Given the description of an element on the screen output the (x, y) to click on. 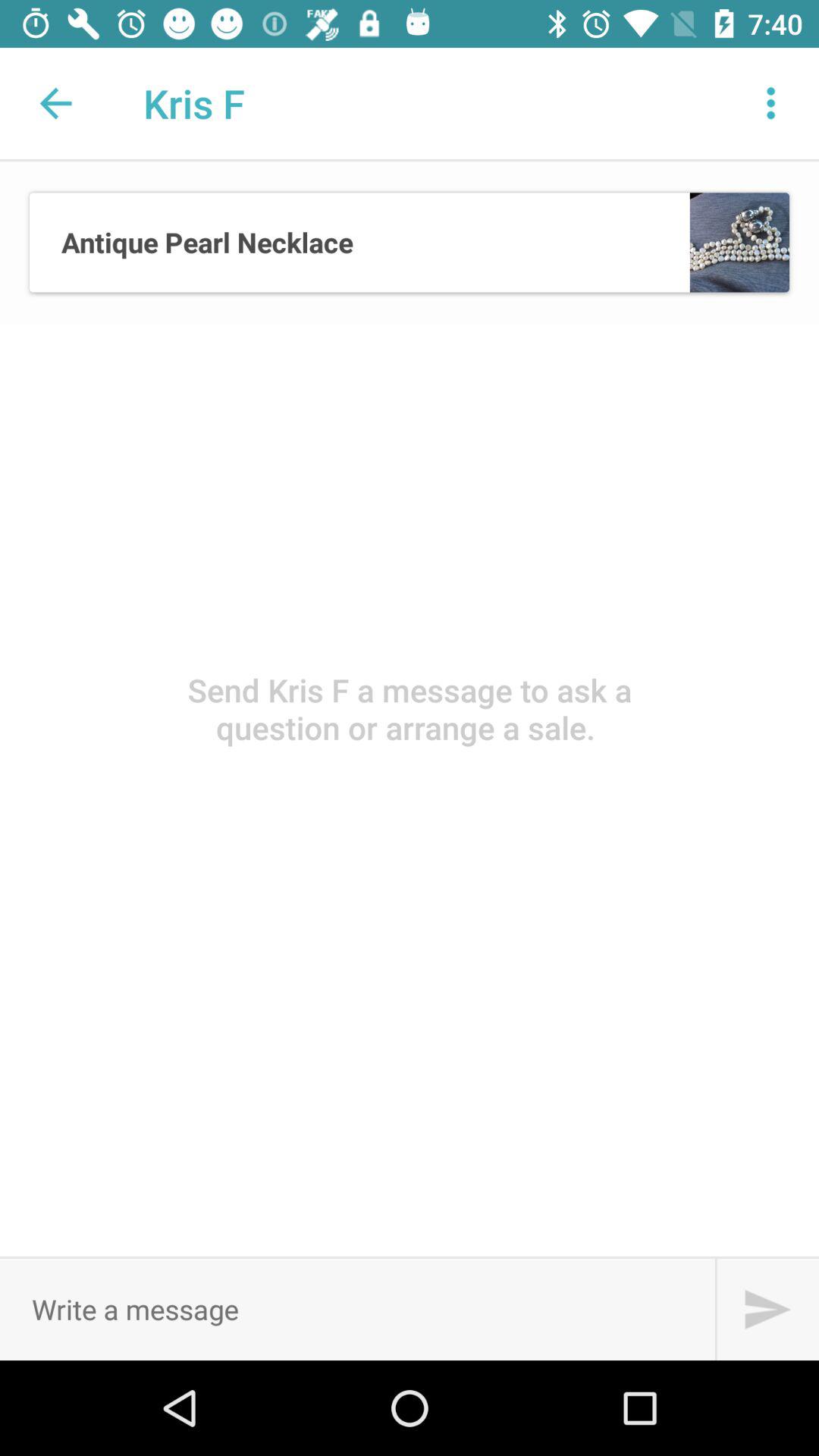
more options (771, 103)
